Given the description of an element on the screen output the (x, y) to click on. 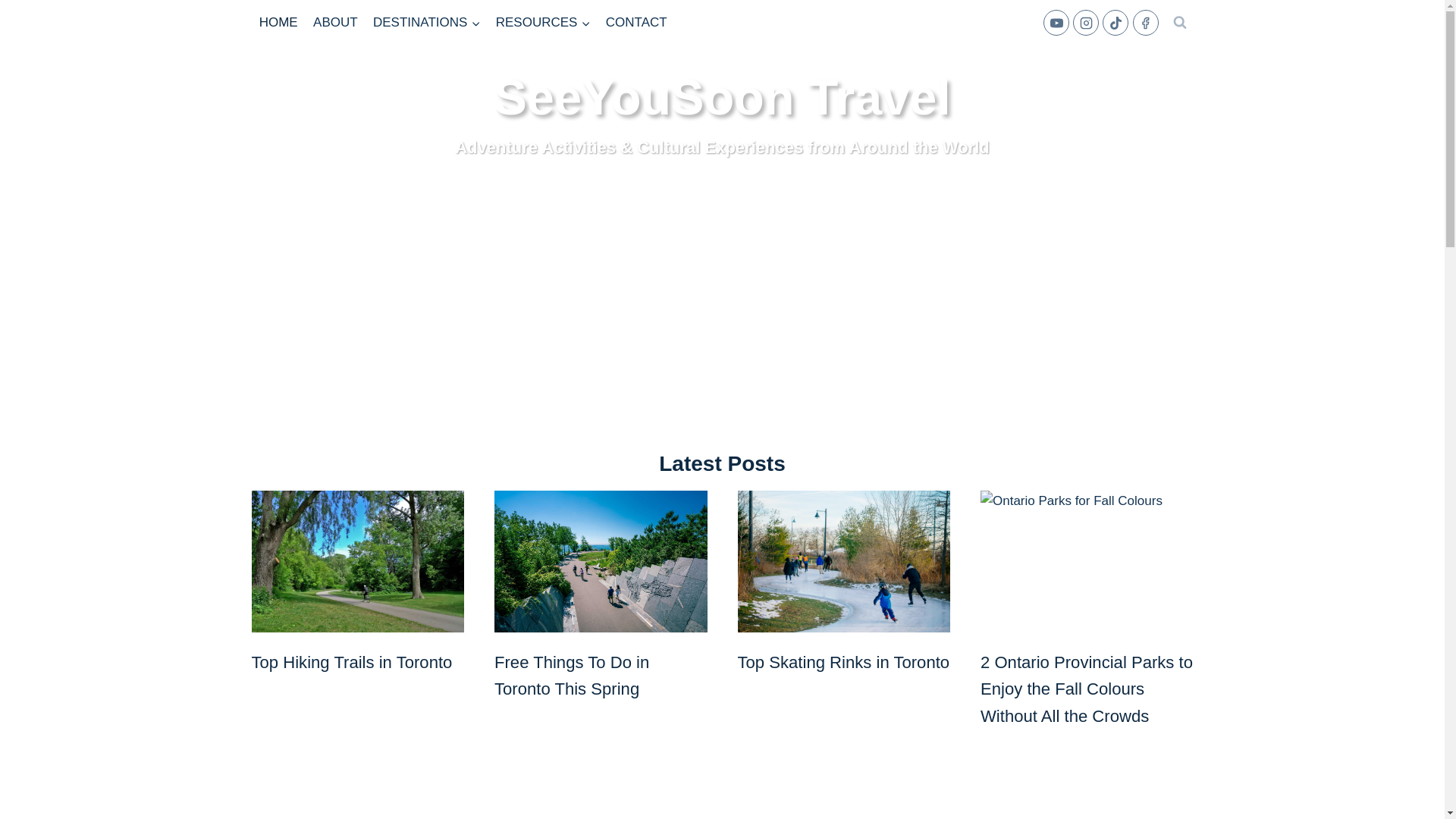
DESTINATIONS (426, 22)
HOME (278, 22)
ABOUT (335, 22)
RESOURCES (542, 22)
